Given the description of an element on the screen output the (x, y) to click on. 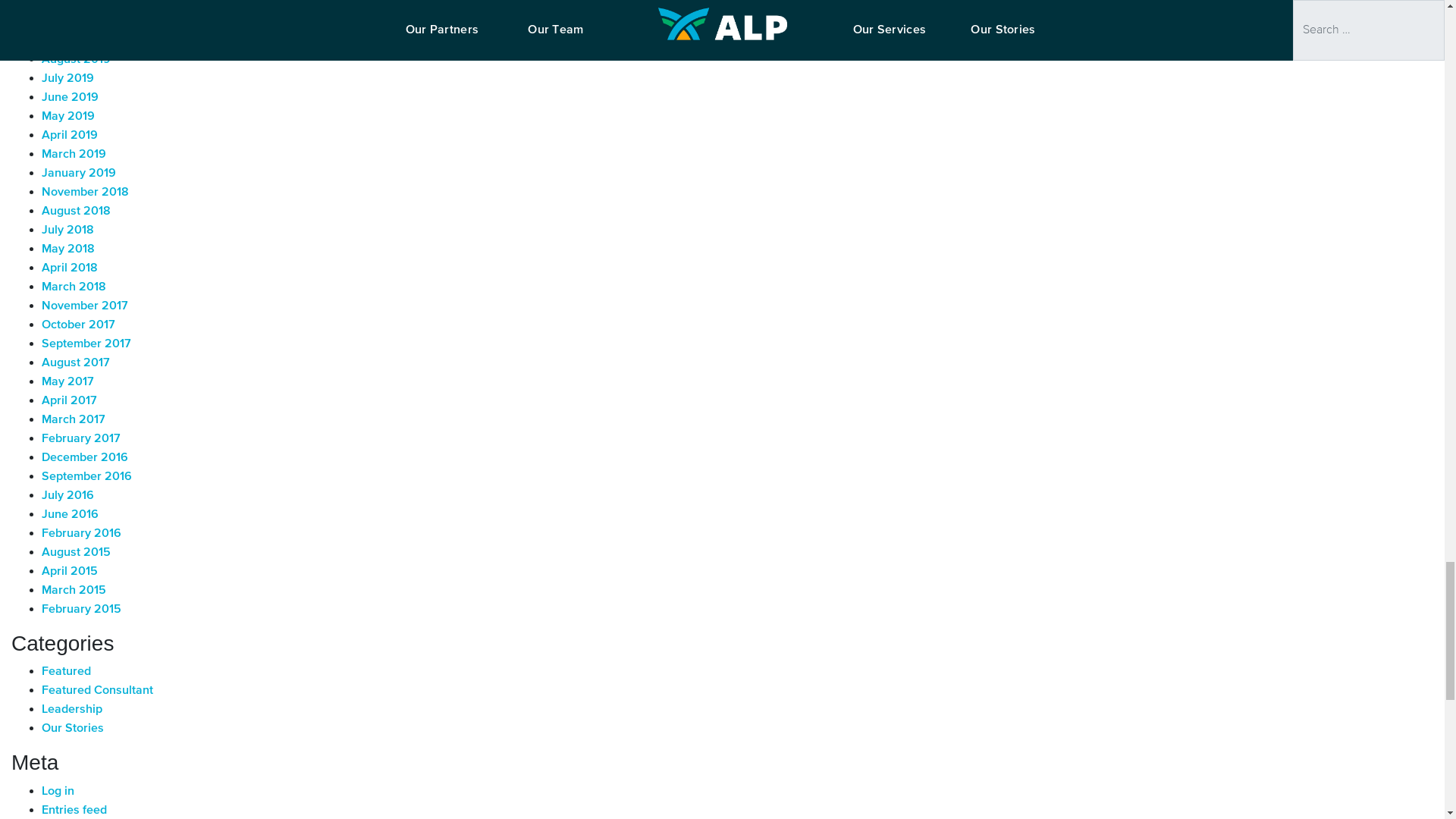
October 2019 (79, 21)
September 2019 (87, 40)
January 2020 (80, 4)
